Given the description of an element on the screen output the (x, y) to click on. 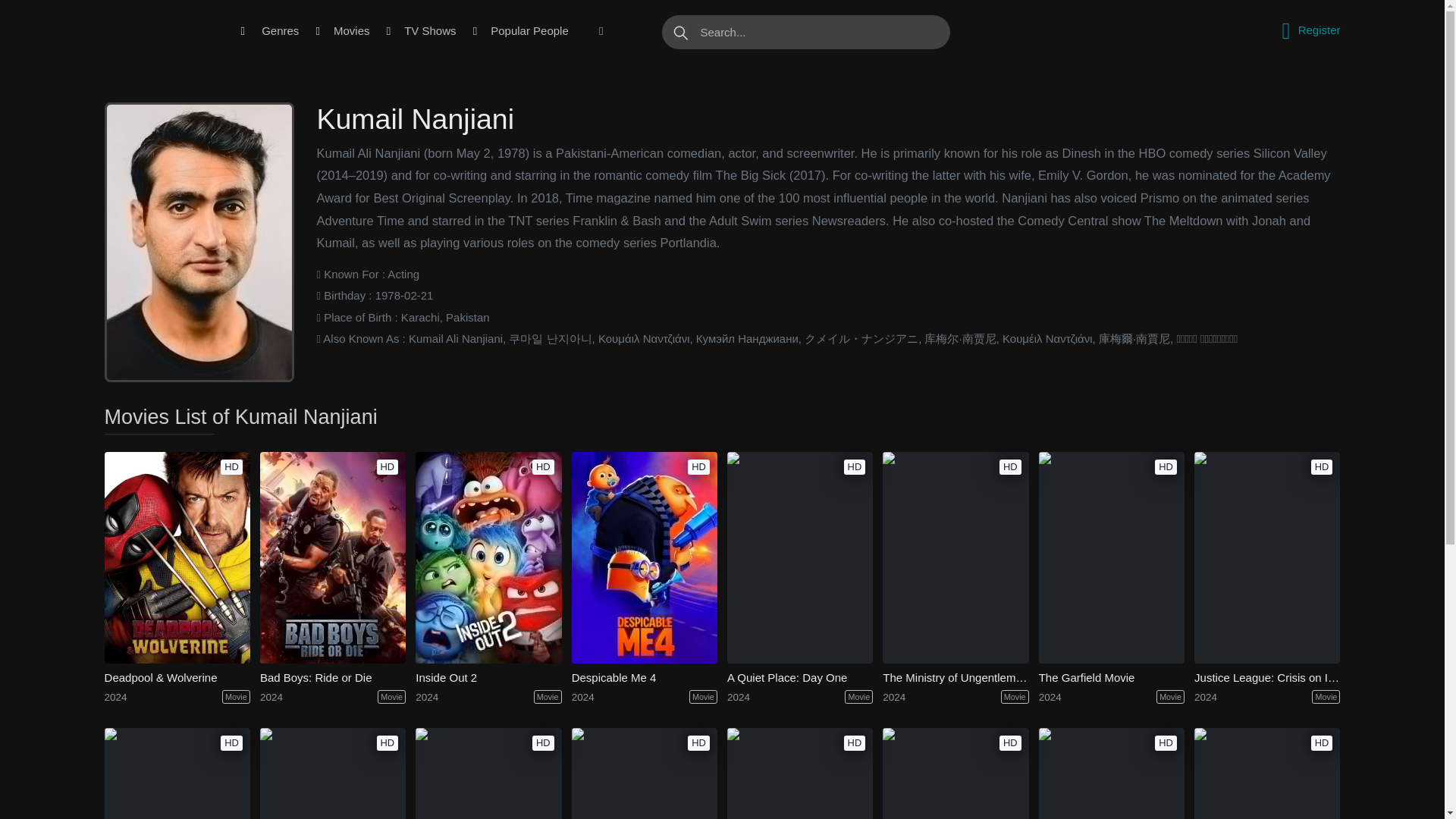
Movies (351, 31)
Genres (280, 31)
Watch Movies Online Free (157, 31)
Popular People (529, 31)
Movies (351, 31)
TV Shows (429, 31)
